Given the description of an element on the screen output the (x, y) to click on. 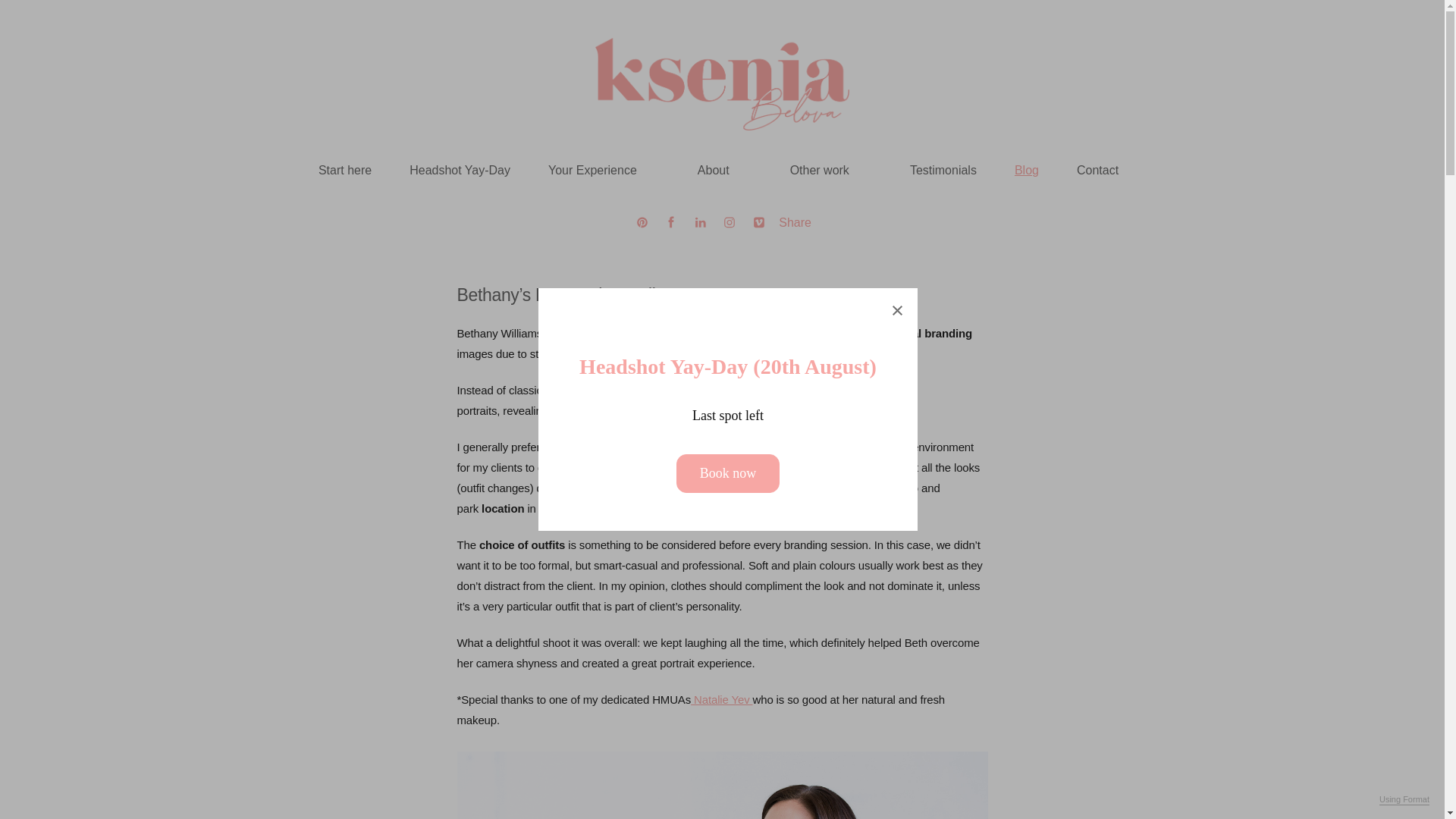
Contact (1097, 169)
Testimonials (943, 169)
Share (794, 222)
Headshot Yay-Day (460, 169)
Other work (831, 169)
Start here (344, 169)
Blog (1026, 169)
Your Experience (603, 169)
About (724, 169)
